Given the description of an element on the screen output the (x, y) to click on. 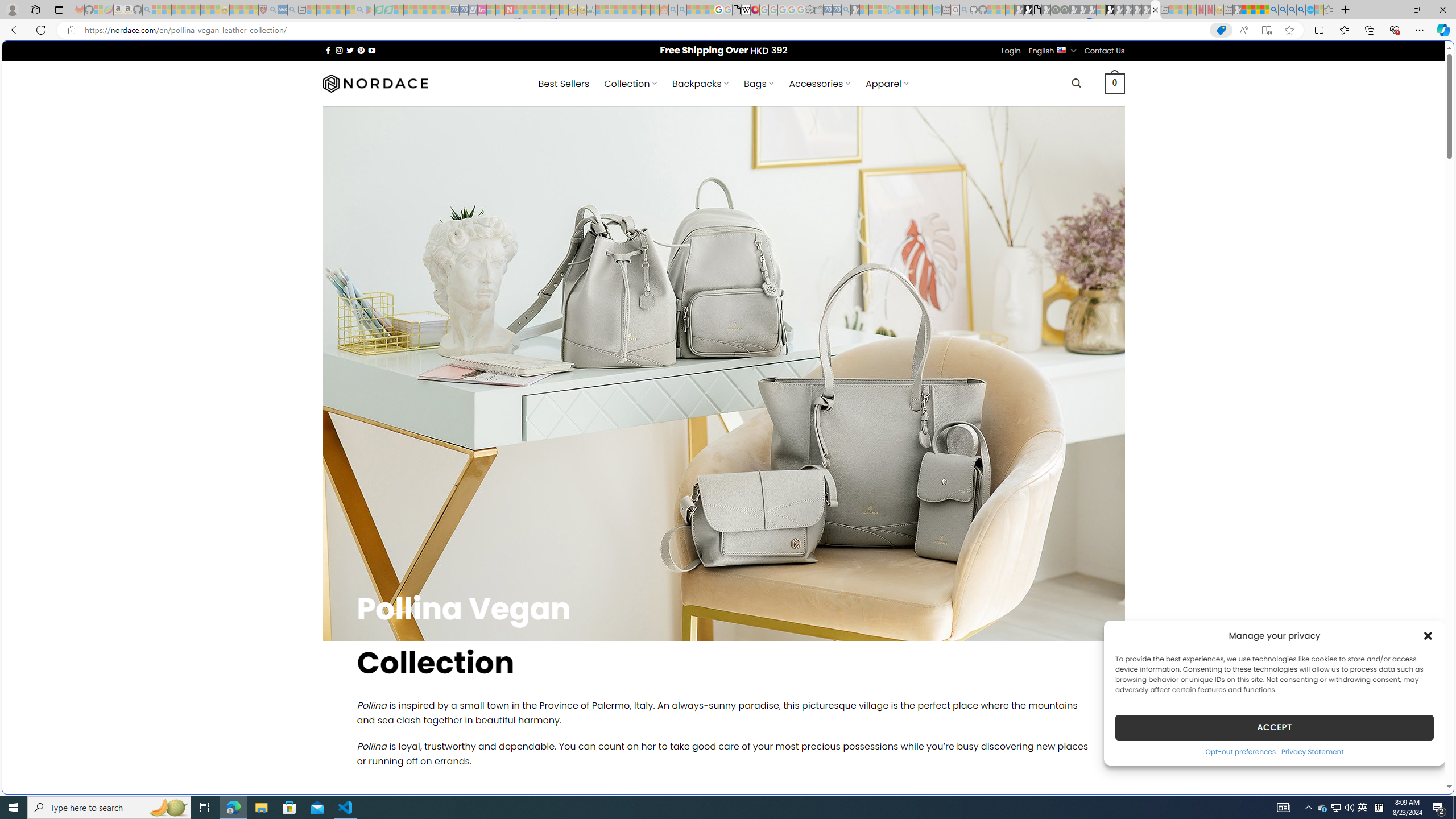
Bing Real Estate - Home sales and rental listings - Sleeping (846, 9)
Close split screen (1208, 57)
Bing AI - Search (1272, 9)
Play Cave FRVR in your browser | Games from Microsoft Start (922, 242)
Target page - Wikipedia (745, 9)
New Report Confirms 2023 Was Record Hot | Watch - Sleeping (195, 9)
Contact Us (1104, 50)
